Given the description of an element on the screen output the (x, y) to click on. 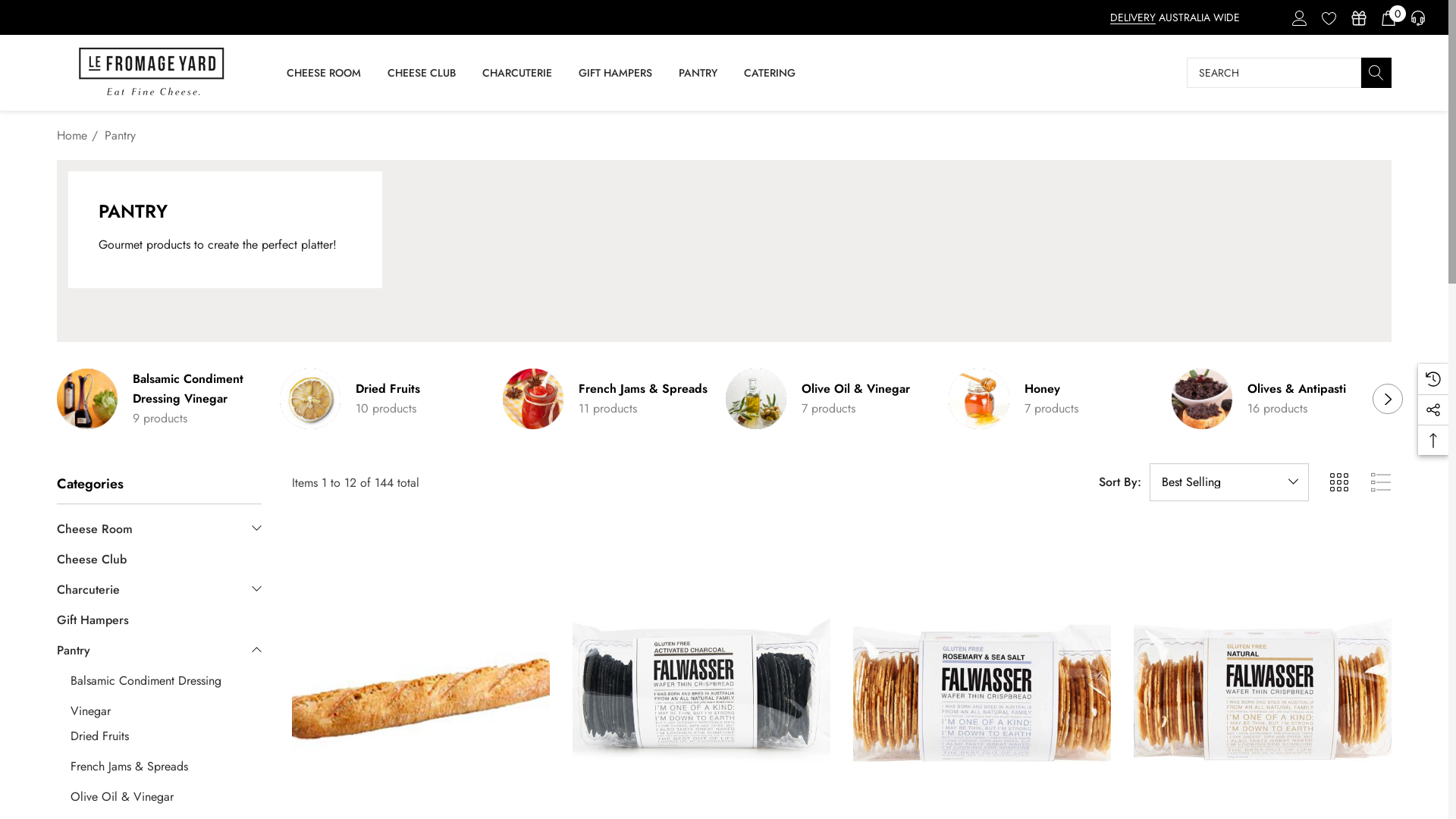
Home Element type: text (71, 135)
Charcuterie Element type: text (87, 589)
Pantry Element type: text (119, 135)
GIFT CERTIFICATE GIFT CERTIFICATE Element type: text (1357, 17)
French Jams & Spreads Element type: text (642, 388)
Dried Fruits Element type: text (165, 736)
YOUR CART YOUR CART
0 Element type: text (1387, 17)
Honey Element type: text (1042, 388)
CHEESE ROOM Element type: text (323, 73)
DELIVERY Element type: text (1132, 17)
Le Fromage Yard Element type: hover (151, 72)
PANTRY Element type: text (697, 73)
Gift Hampers Element type: text (92, 620)
GIFT HAMPERS Element type: text (614, 72)
LIVE HELP LIVE HELP Element type: text (1416, 17)
Olives & Antipasti Element type: text (1296, 388)
CATERING Element type: text (769, 72)
CHEESE CLUB Element type: text (420, 72)
French Jams & Spreads Element type: text (165, 766)
Balsamic Condiment Dressing Vinegar Element type: text (165, 680)
Next Element type: text (1387, 398)
CHARCUTERIE Element type: text (517, 73)
Dried Fruits Element type: text (387, 388)
Balsamic Condiment Dressing Vinegar Element type: text (198, 388)
Olive Oil & Vinegar Element type: text (165, 796)
Cheese Club Element type: text (91, 559)
ACCOUNT ACCOUNT Element type: text (1298, 17)
Cheese Room Element type: text (94, 529)
Olive Oil & Vinegar Element type: text (855, 388)
WISH LISTS WISH LISTS Element type: text (1328, 17)
Pantry Element type: text (73, 650)
